Given the description of an element on the screen output the (x, y) to click on. 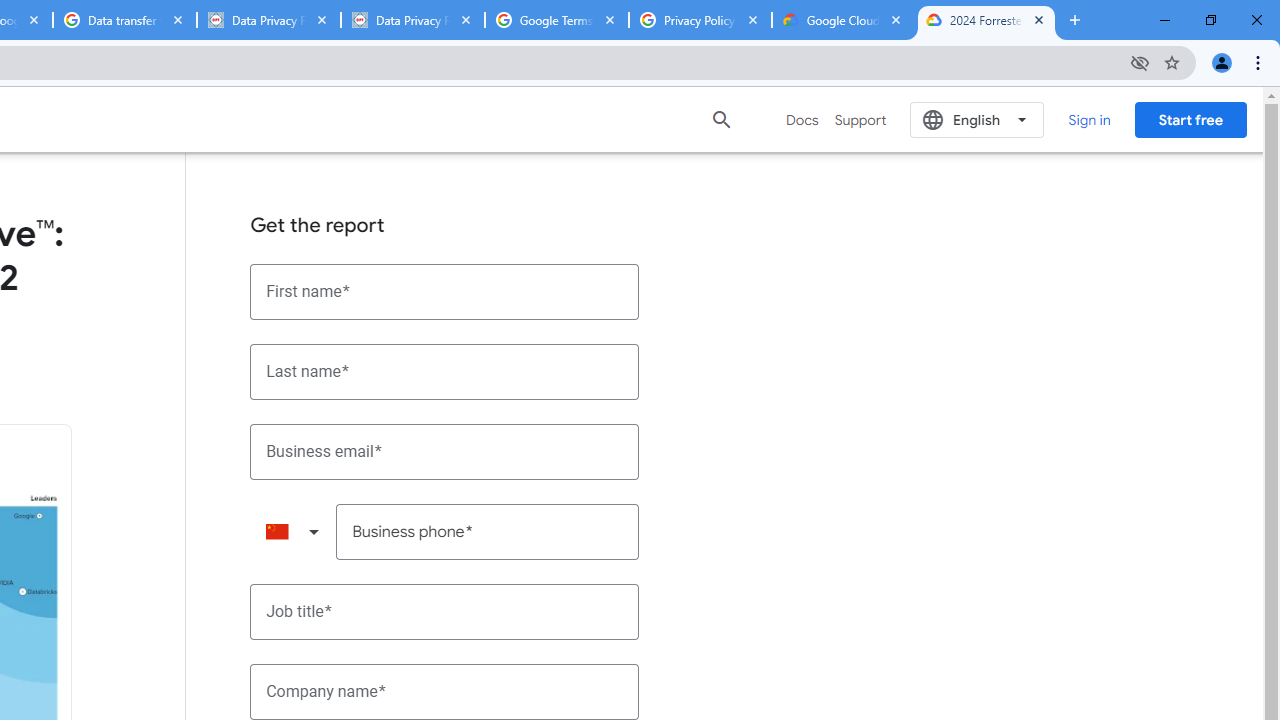
Business phone* (488, 531)
Data Privacy Framework (412, 20)
Data Privacy Framework (268, 20)
Google Cloud Privacy Notice (843, 20)
